Given the description of an element on the screen output the (x, y) to click on. 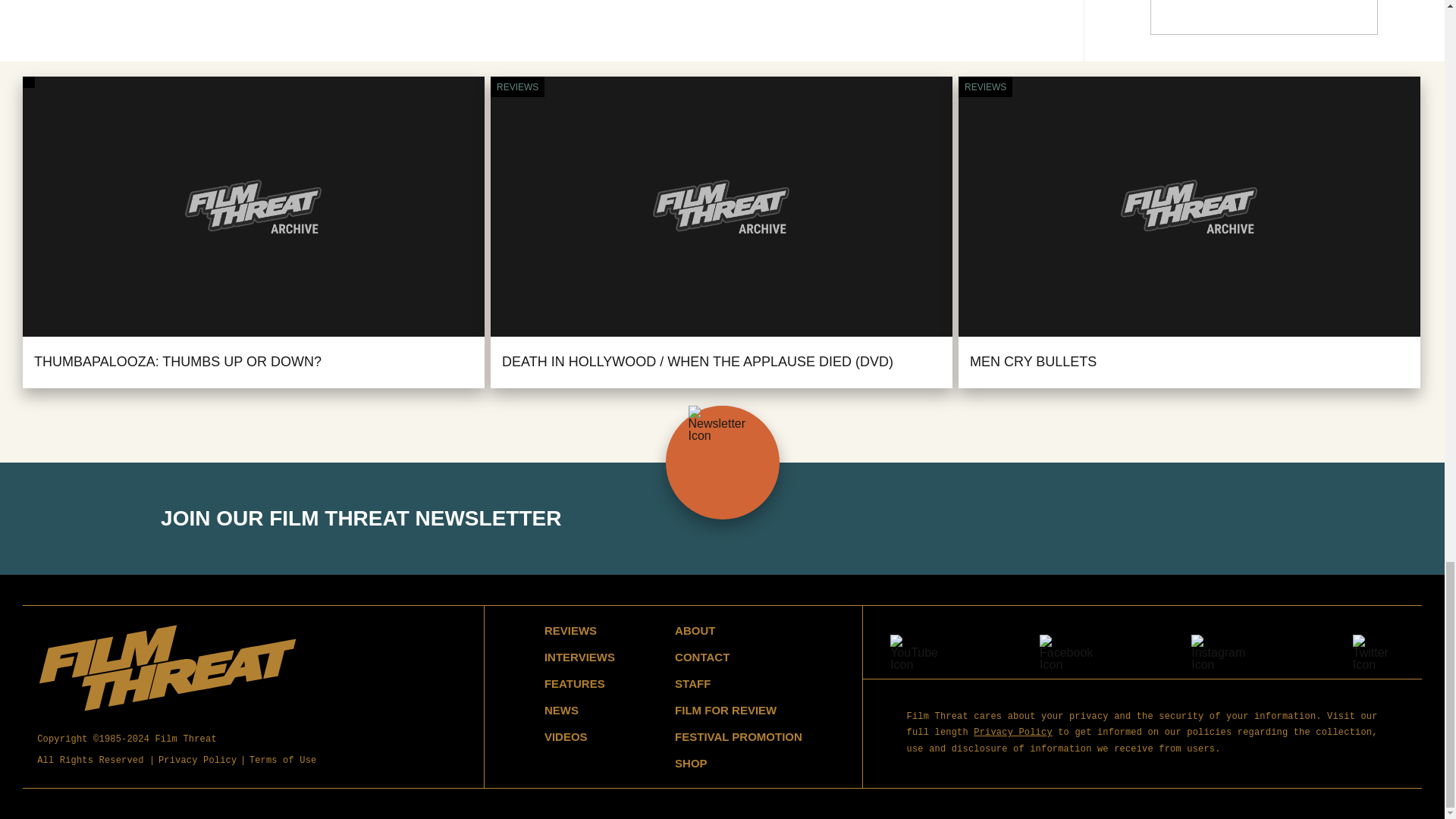
MEN CRY BULLETS (1032, 361)
REVIEWS (517, 86)
Reviews (984, 86)
REVIEWS (984, 86)
Privacy Policy (197, 760)
THUMBAPALOOZA: THUMBS UP OR DOWN? (177, 361)
Reviews (517, 86)
